Given the description of an element on the screen output the (x, y) to click on. 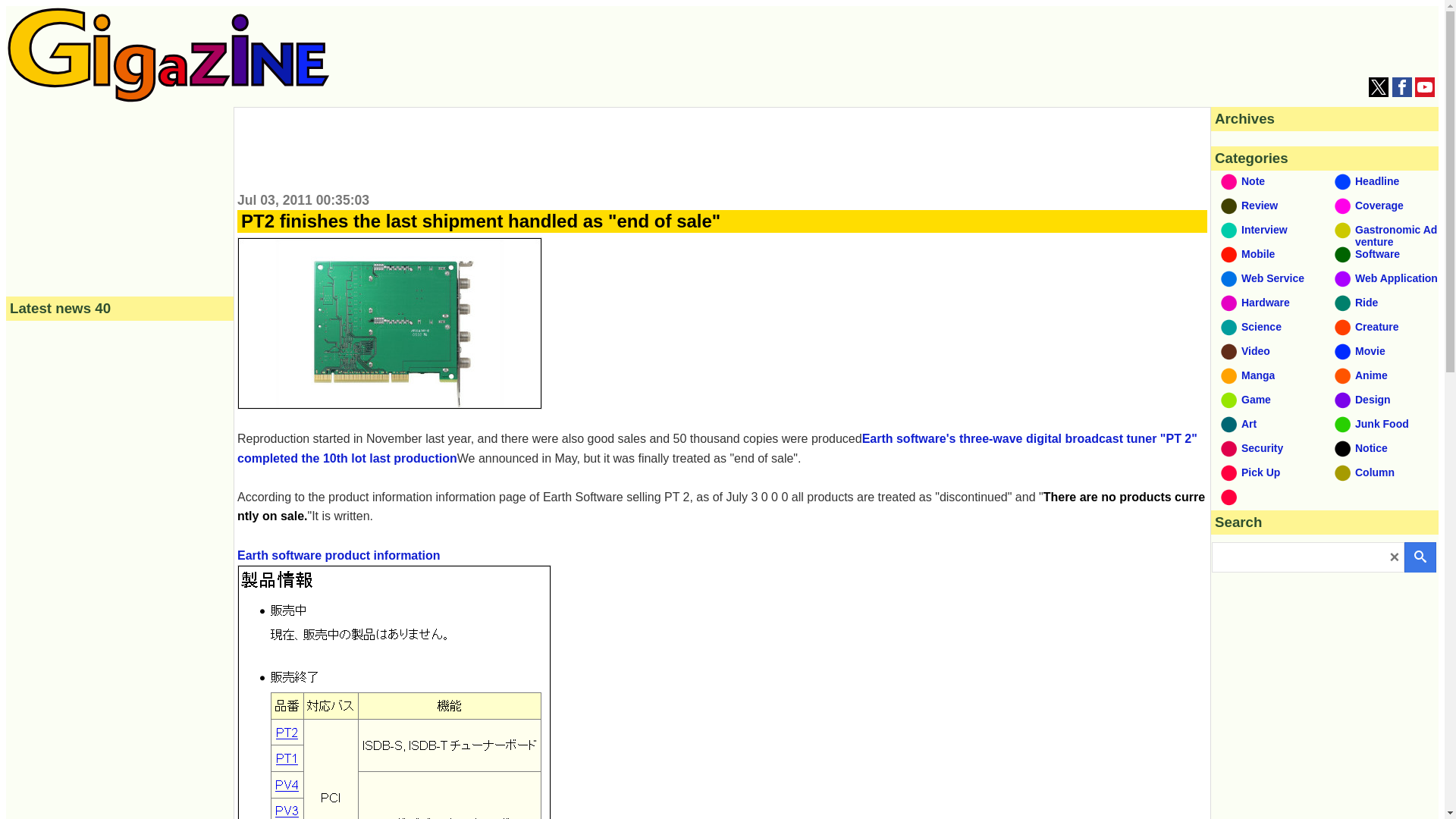
Interview (1267, 231)
GIGAZINE (168, 54)
Mobile (1267, 255)
GIGAZINE (168, 97)
Note (1267, 182)
Earth software product information (394, 683)
Review (1267, 207)
